Given the description of an element on the screen output the (x, y) to click on. 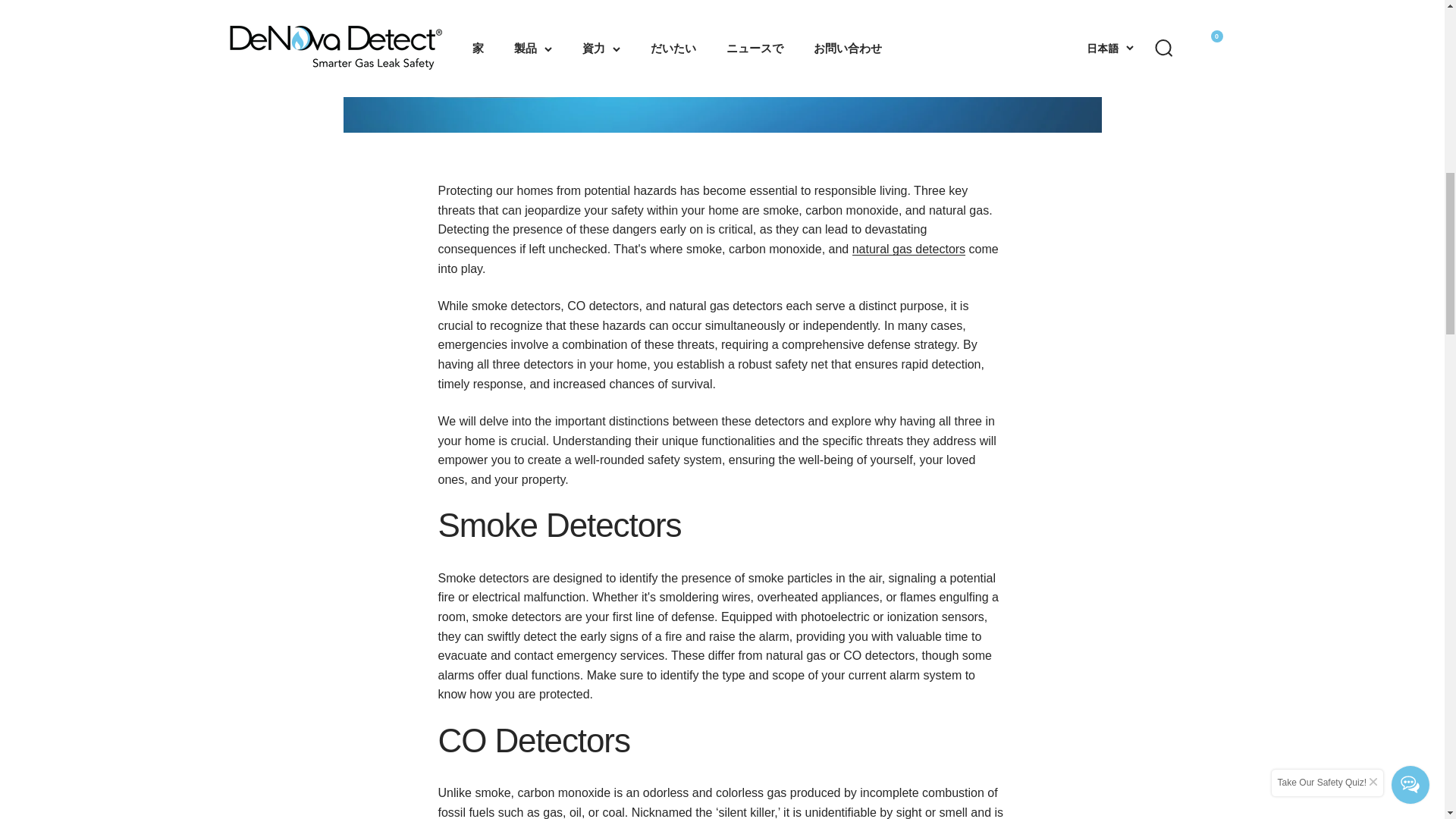
natural gas detectors (908, 248)
